Given the description of an element on the screen output the (x, y) to click on. 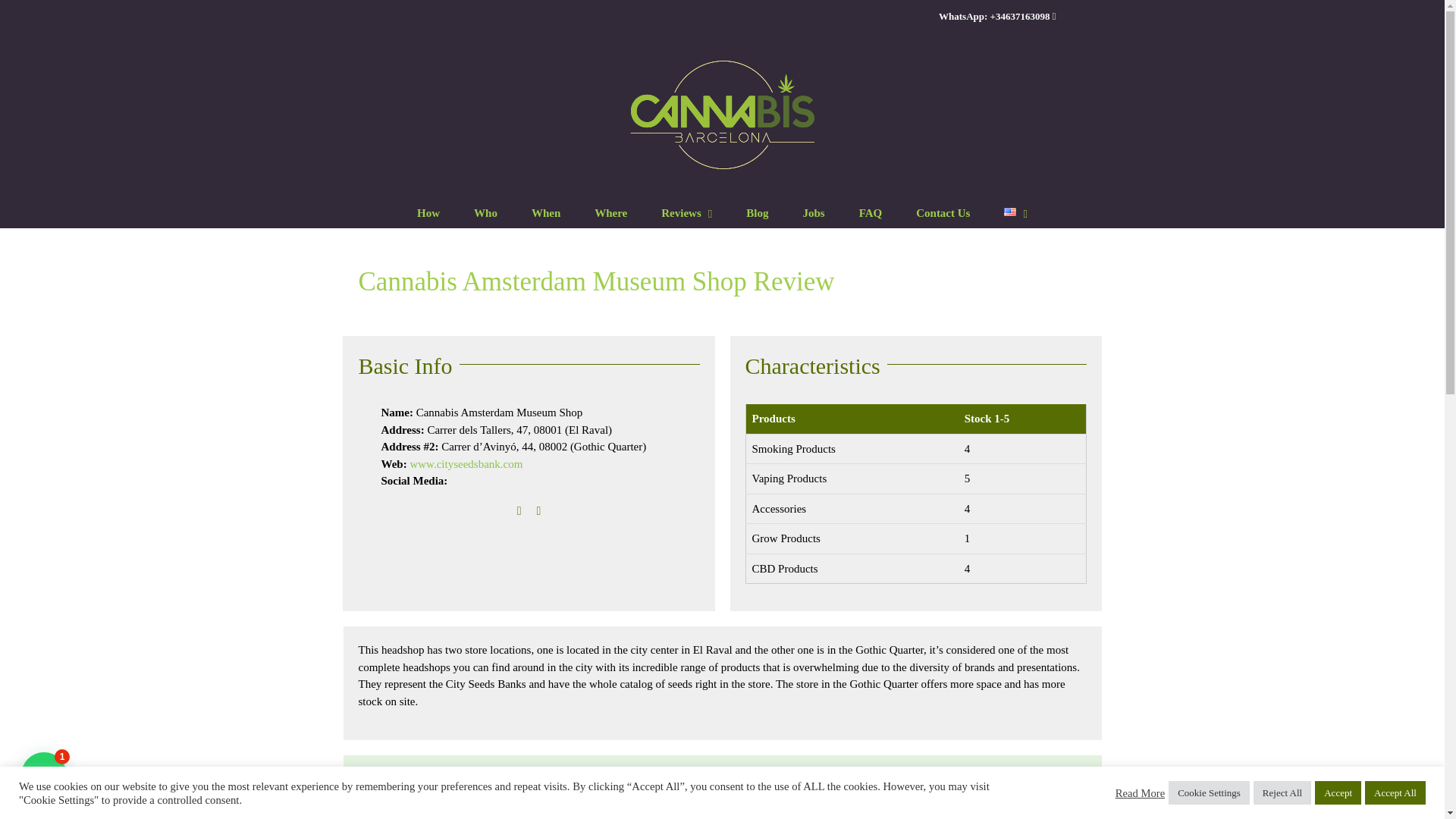
Where (610, 212)
Reviews (686, 212)
Contact Us (942, 212)
When (545, 212)
